Given the description of an element on the screen output the (x, y) to click on. 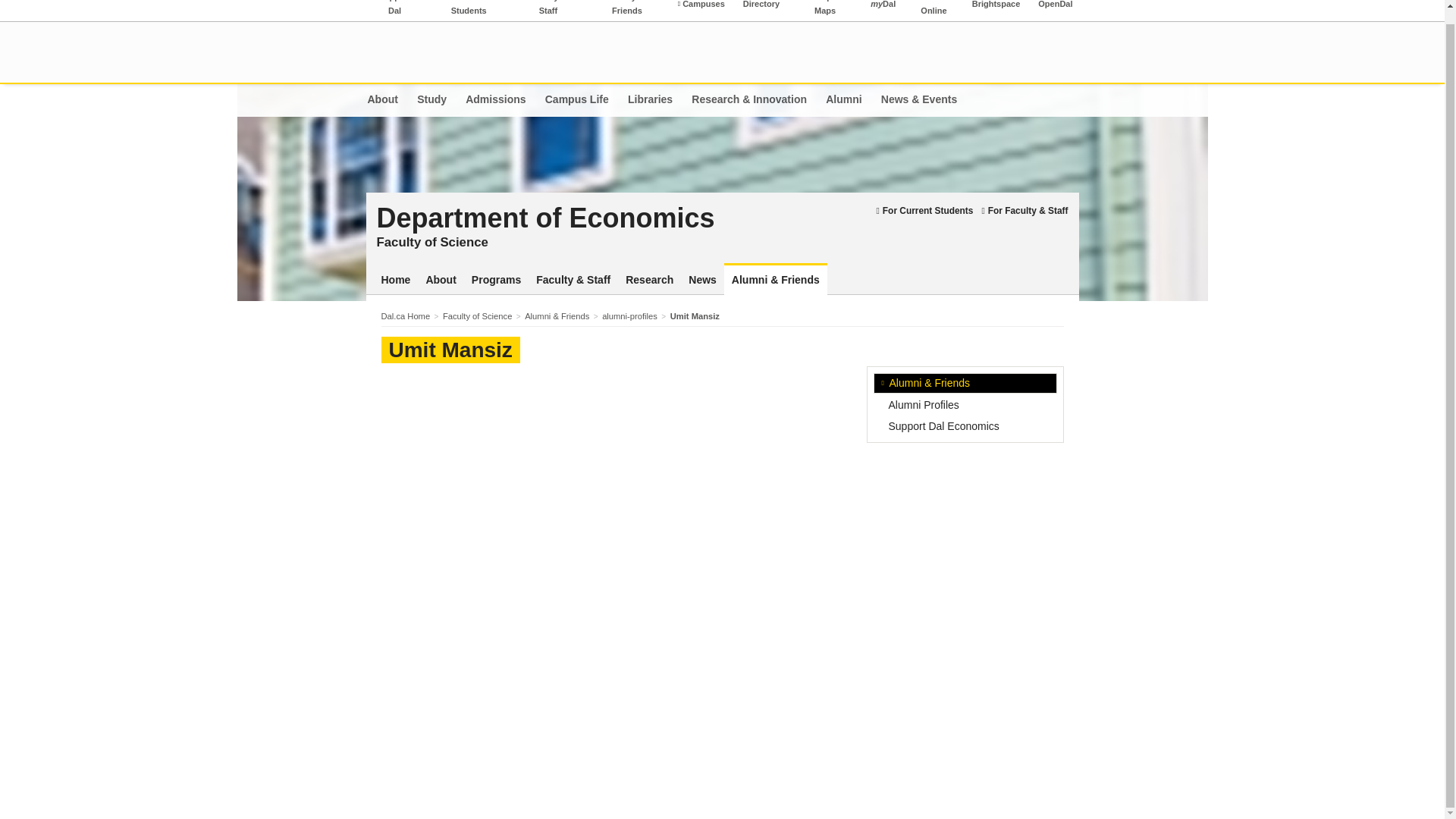
Dal Online (933, 10)
OpenDal (1055, 10)
Programs (496, 280)
Campuses (700, 10)
Support Dal Economics (965, 425)
Back to Dalhousie University Home Page (432, 52)
Campus Life (576, 100)
For Current Students (923, 210)
Admissions (496, 100)
